Given the description of an element on the screen output the (x, y) to click on. 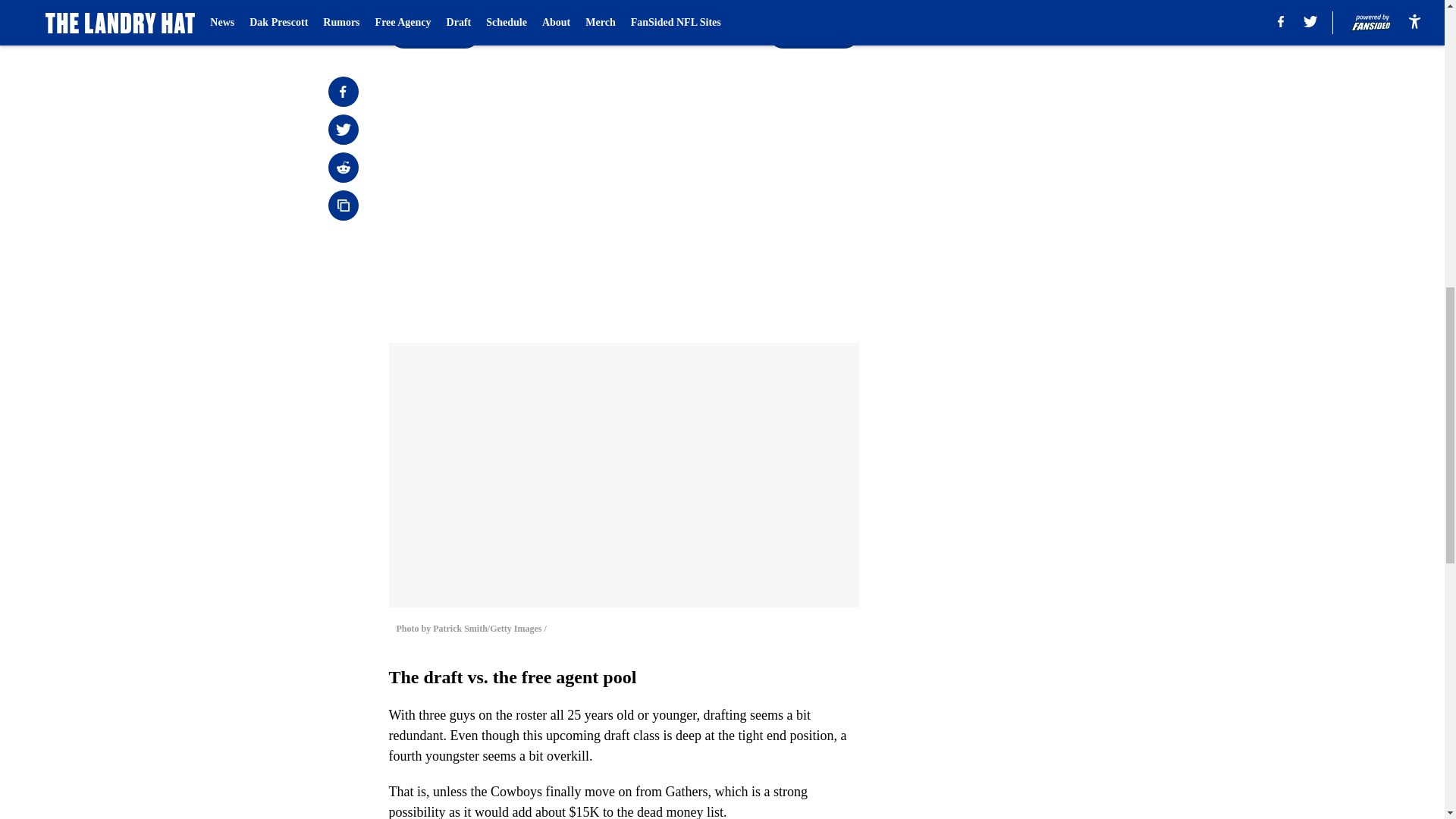
Next (813, 33)
Prev (433, 33)
